Given the description of an element on the screen output the (x, y) to click on. 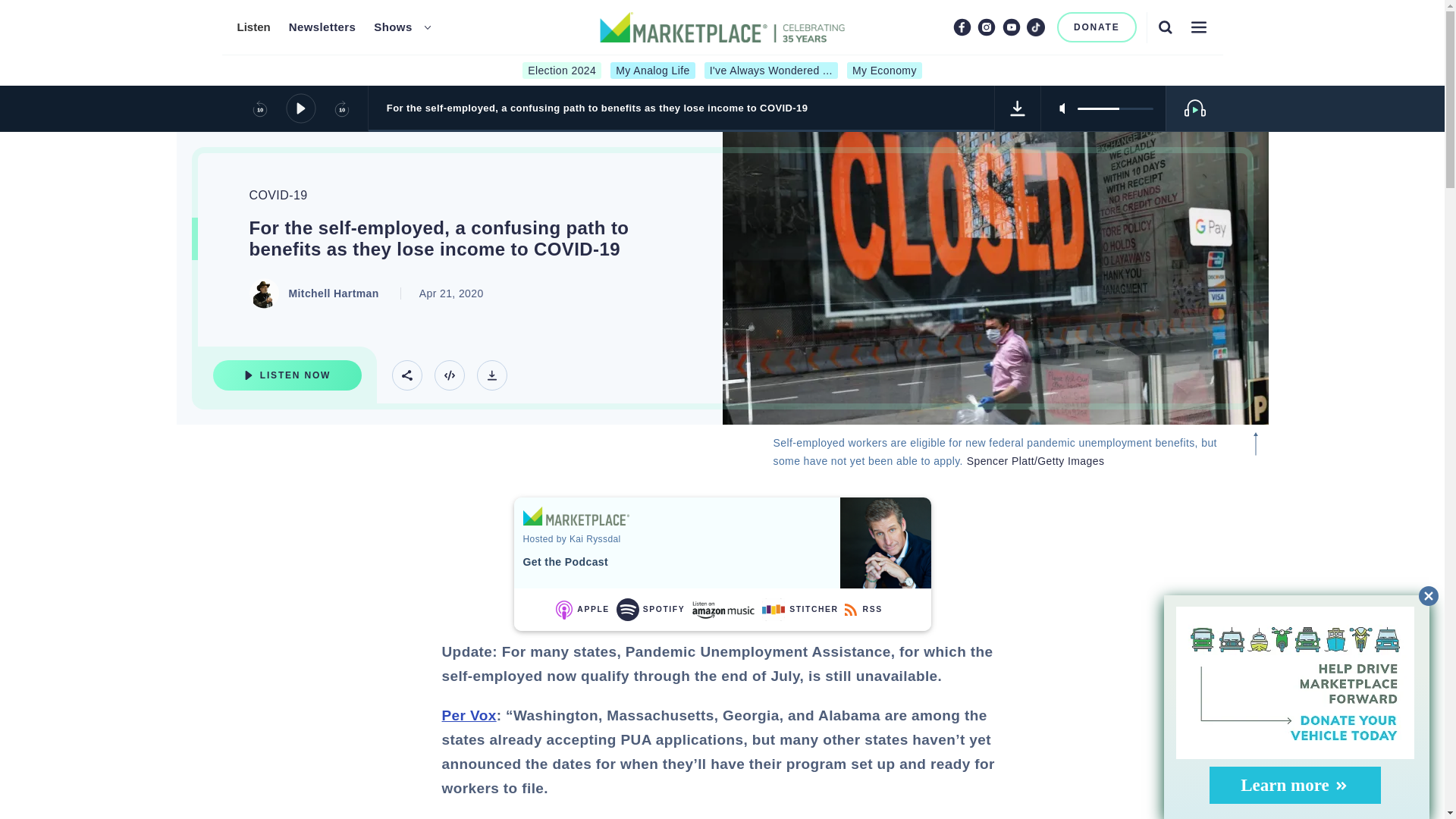
TikTok (1035, 27)
Newsletters (322, 27)
Listen Now (286, 374)
Facebook (962, 27)
Youtube (1011, 27)
Download Track (1017, 108)
Instagram (985, 27)
5 (1115, 108)
Search (1164, 27)
Menu (1198, 27)
Download Track (491, 374)
Marketplace (575, 515)
volume (1115, 108)
DONATE (1097, 27)
Shows (393, 26)
